Given the description of an element on the screen output the (x, y) to click on. 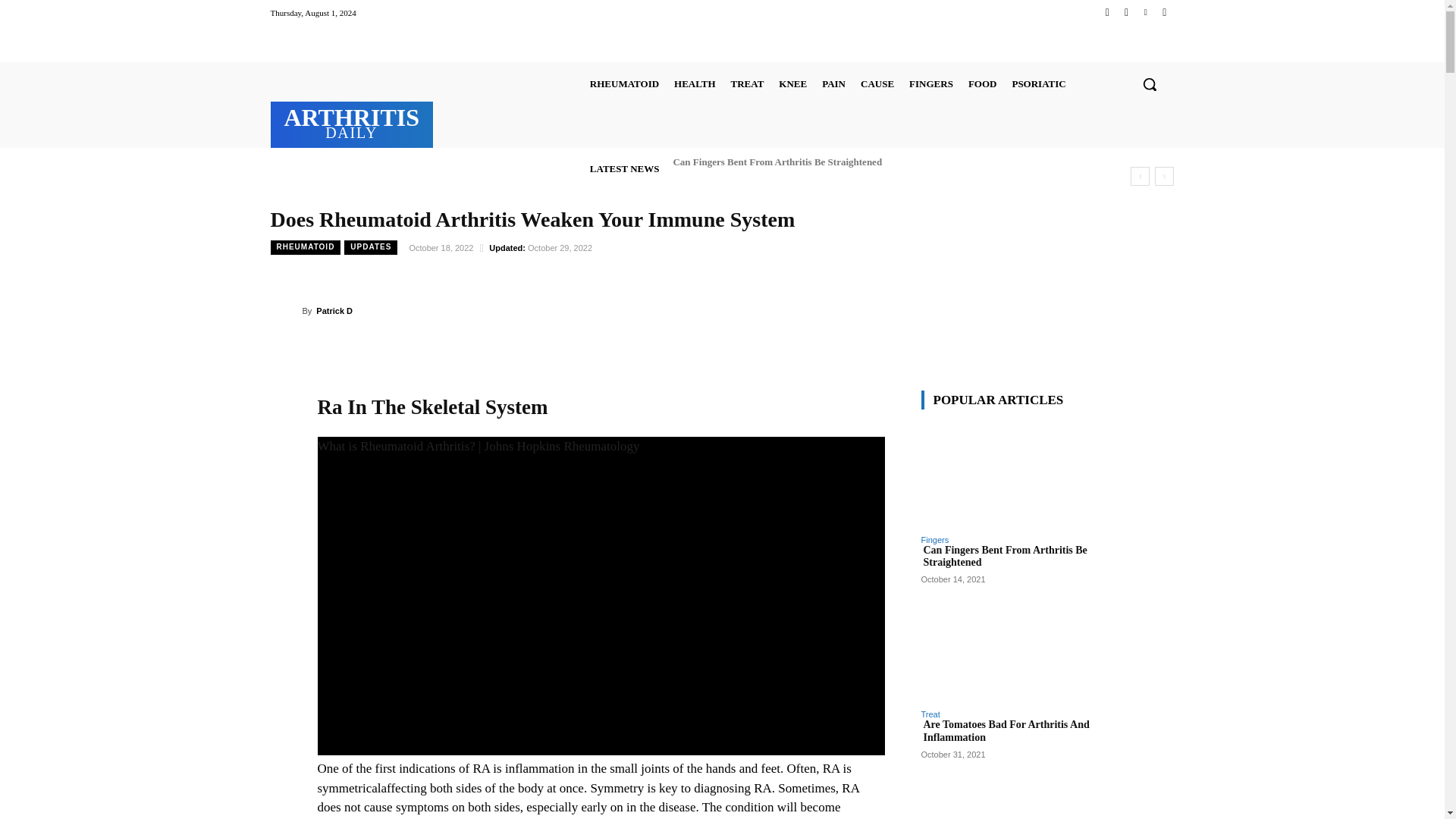
Instagram (1125, 12)
Facebook (1106, 12)
